Given the description of an element on the screen output the (x, y) to click on. 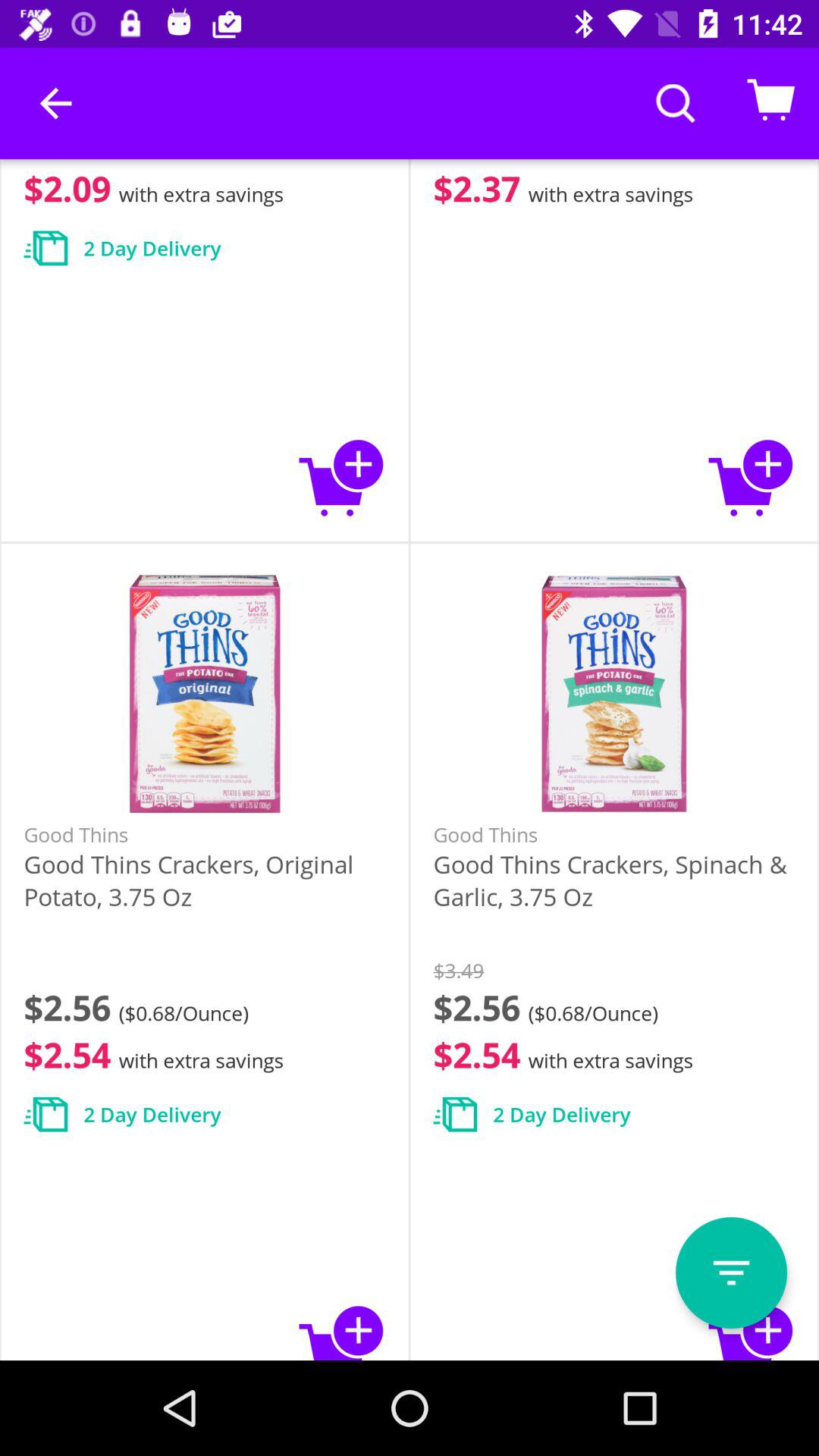
press the icon next to ($0.26/ounce) icon (55, 103)
